Given the description of an element on the screen output the (x, y) to click on. 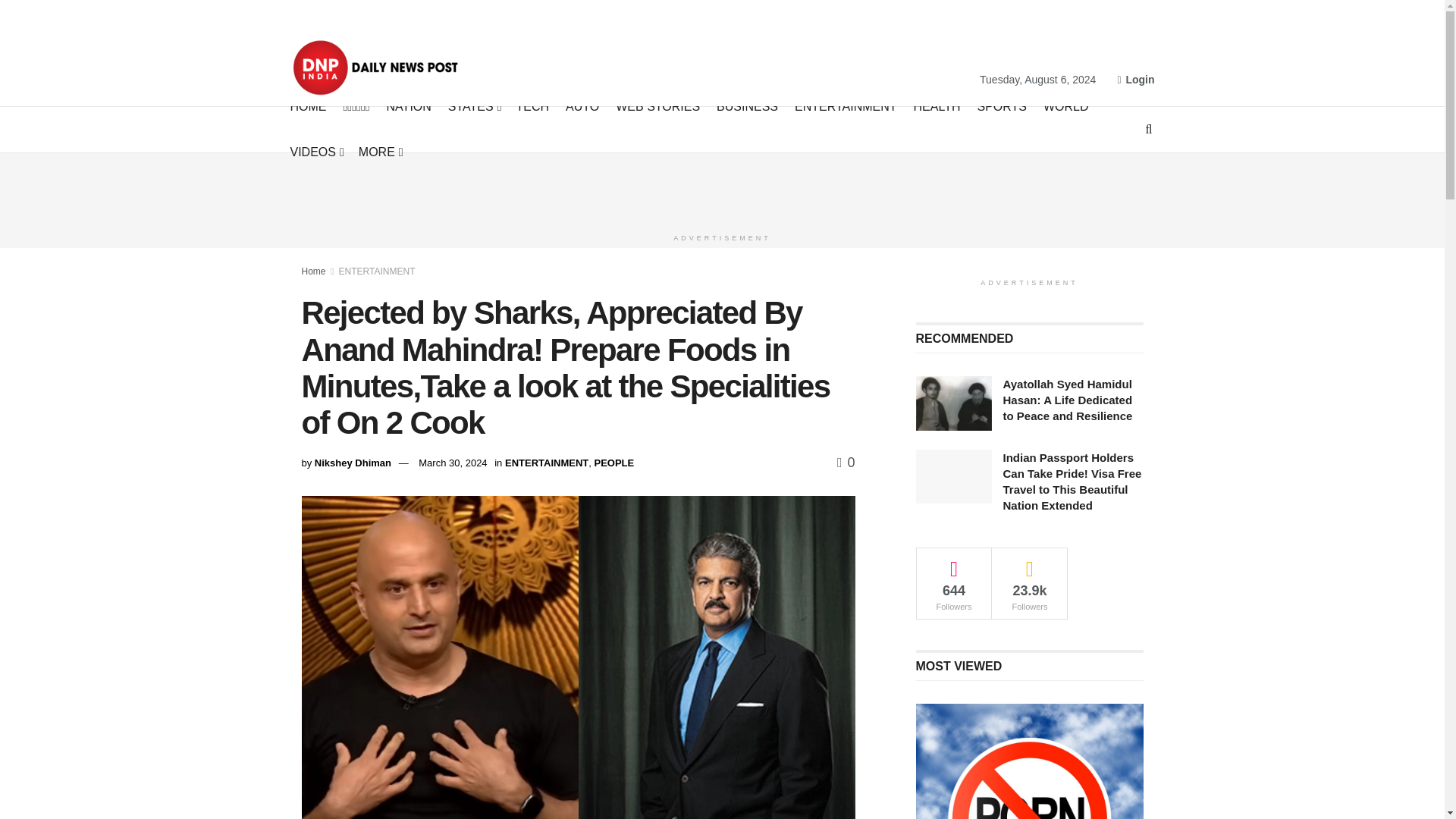
STATES (473, 106)
SPORTS (1001, 106)
WORLD (1066, 106)
Login (1135, 79)
HEALTH (937, 106)
HOME (307, 106)
AUTO (582, 106)
BUSINESS (746, 106)
ENTERTAINMENT (845, 106)
TECH (533, 106)
